Given the description of an element on the screen output the (x, y) to click on. 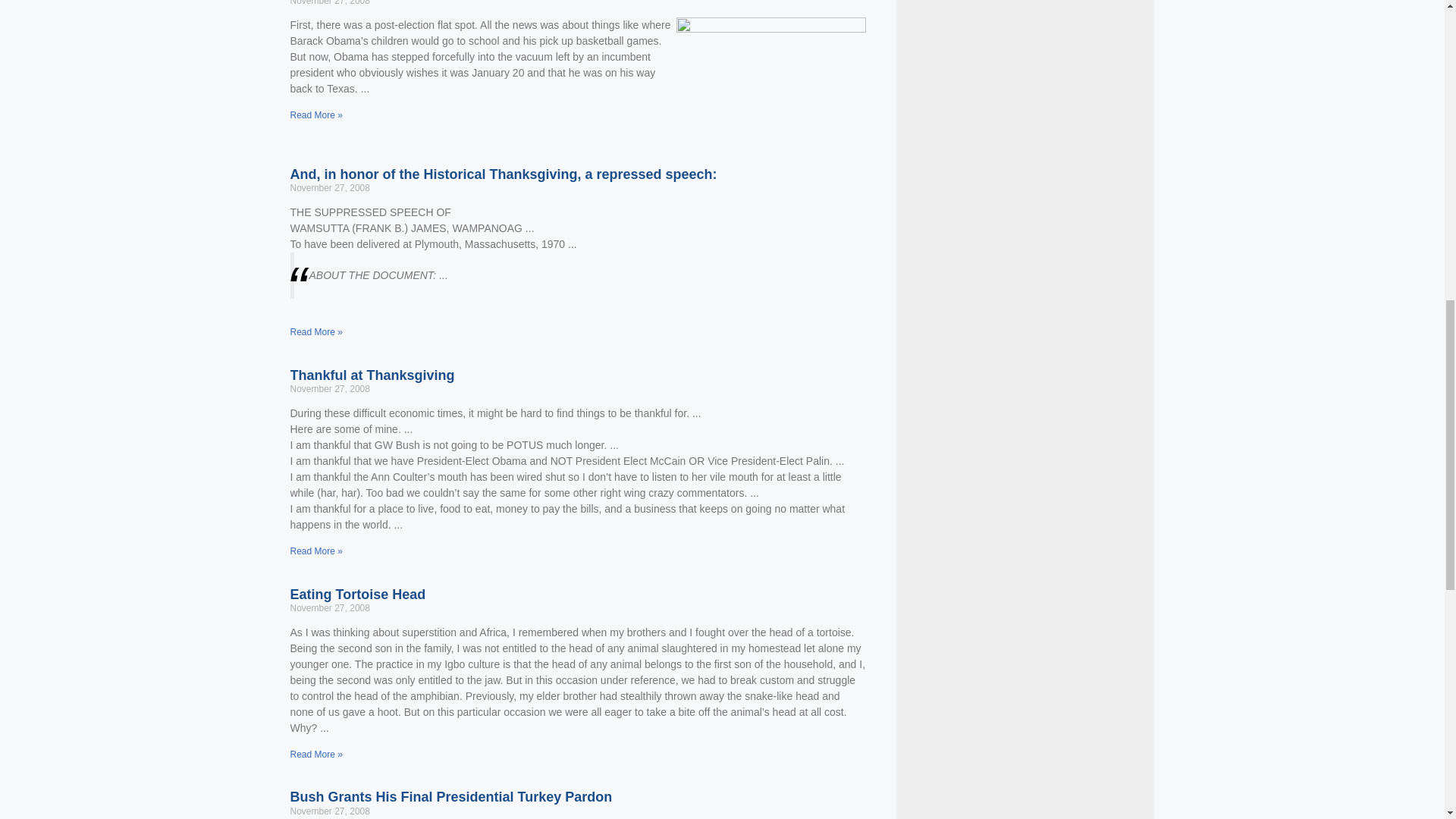
Thankful at Thanksgiving (371, 375)
Bush Grants His Final Presidential Turkey Pardon (450, 796)
Eating Tortoise Head (357, 594)
